Given the description of an element on the screen output the (x, y) to click on. 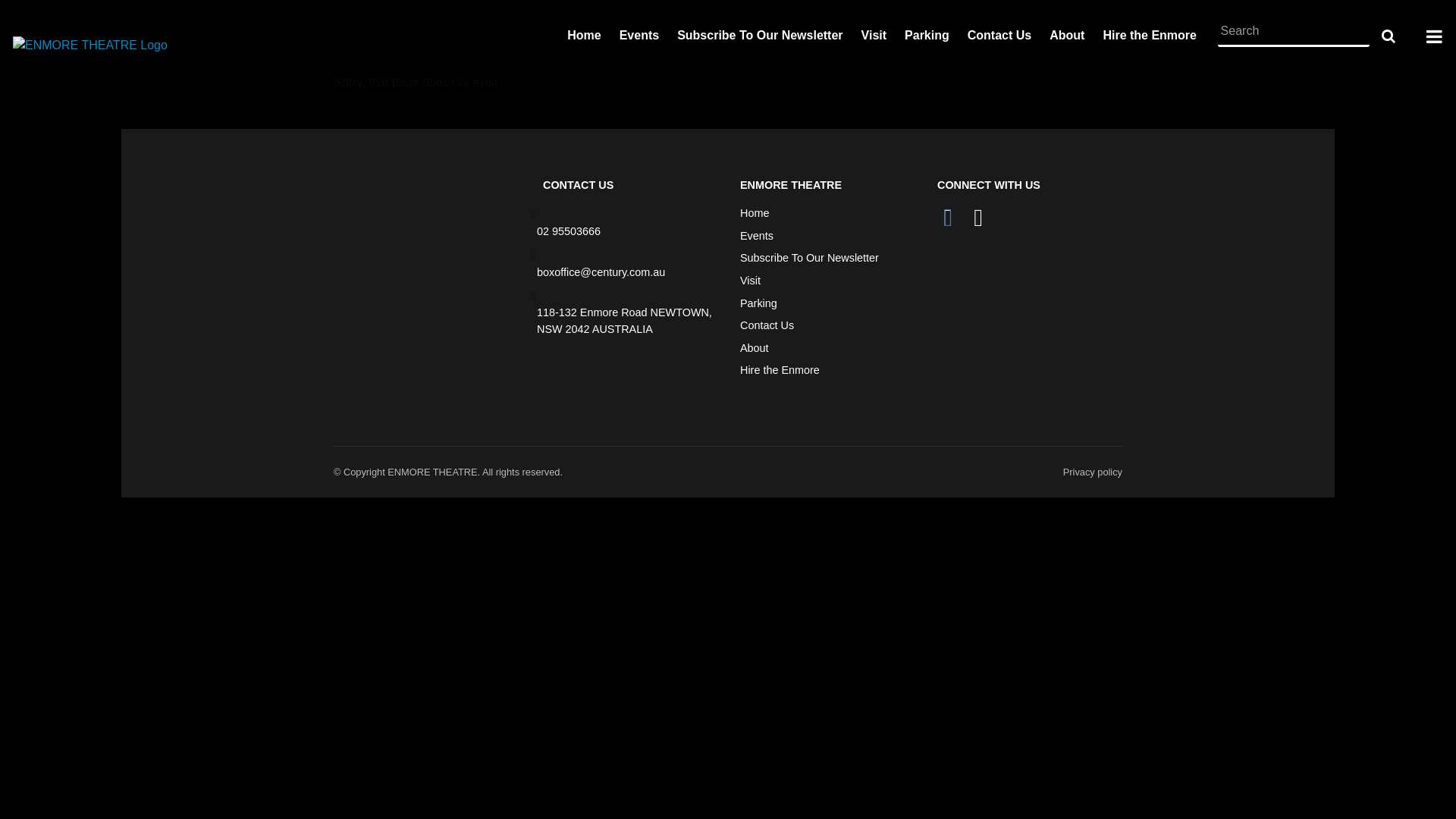
Home Element type: text (583, 35)
Hire the Enmore Element type: text (779, 370)
Events Element type: text (756, 236)
Contact Us Element type: text (766, 325)
Subscribe To Our Newsletter Element type: text (759, 35)
About Element type: text (754, 348)
Hire the Enmore Element type: text (1149, 35)
Parking Element type: text (926, 35)
Visit Element type: text (874, 35)
Privacy policy Element type: text (1092, 471)
Subscribe To Our Newsletter Element type: text (809, 258)
boxoffice@century.com.au Element type: text (600, 272)
Visit Element type: text (750, 281)
Events Element type: text (639, 35)
Home Element type: text (754, 213)
Contact Us Element type: text (999, 35)
Parking Element type: text (758, 303)
About Element type: text (1066, 35)
